Given the description of an element on the screen output the (x, y) to click on. 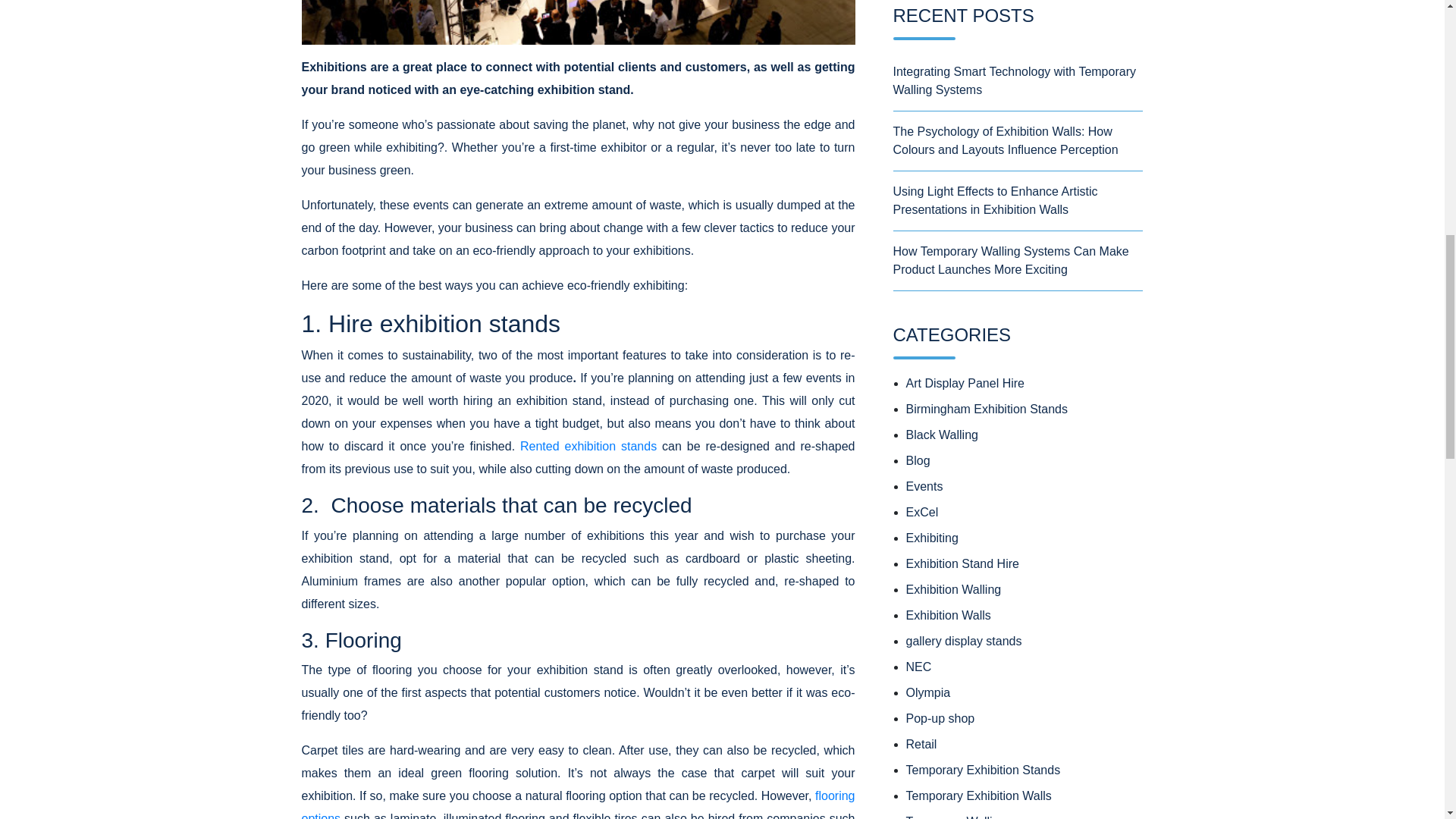
flooring options (578, 804)
Rented exhibition stands (585, 445)
